Given the description of an element on the screen output the (x, y) to click on. 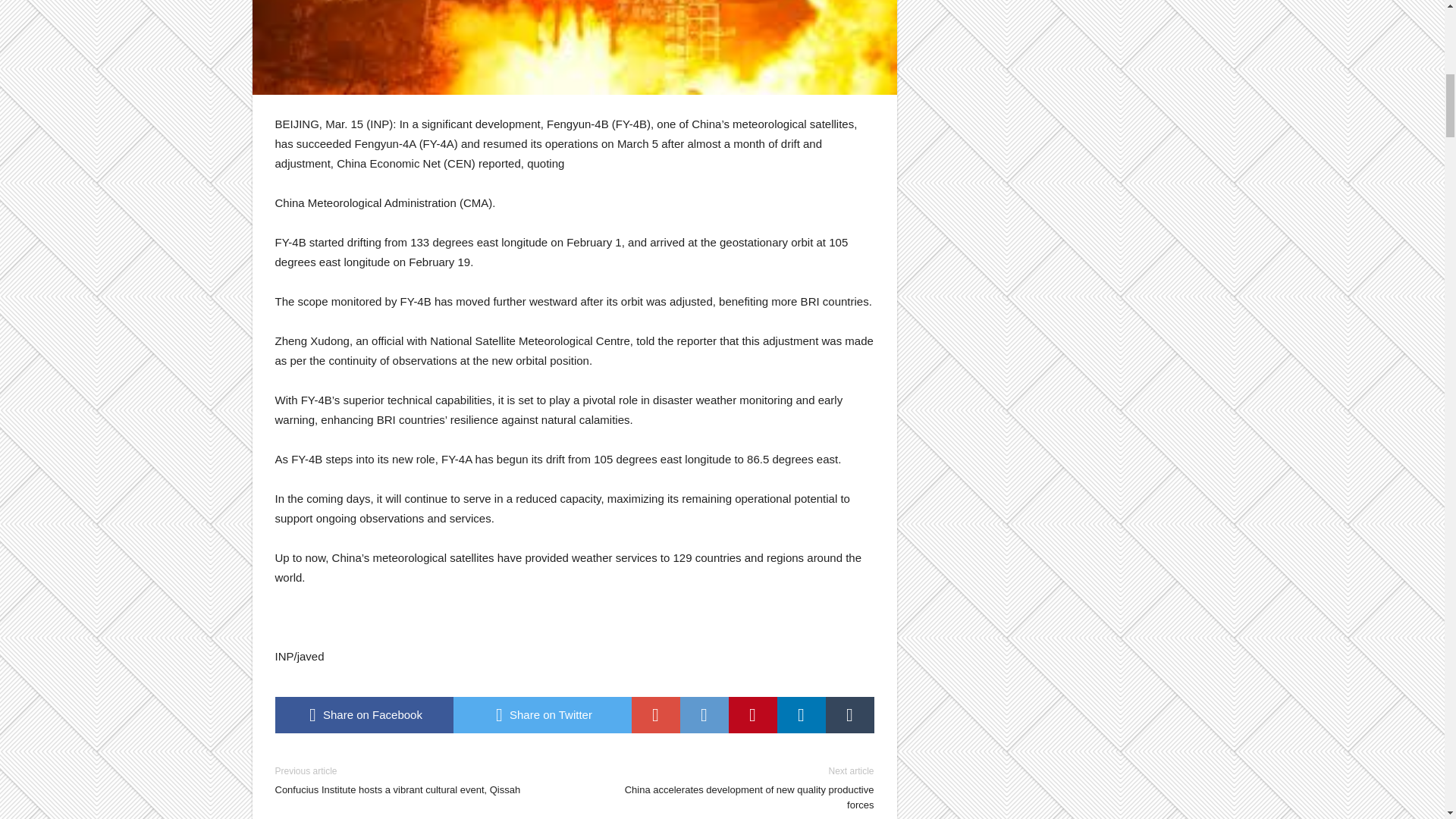
Share on Linkedin (800, 714)
Share on Twitter (541, 714)
Share on Tumblr (849, 714)
Share on Reddit (703, 714)
Share on Pinterest (752, 714)
Share on Facebook (363, 714)
